Given the description of an element on the screen output the (x, y) to click on. 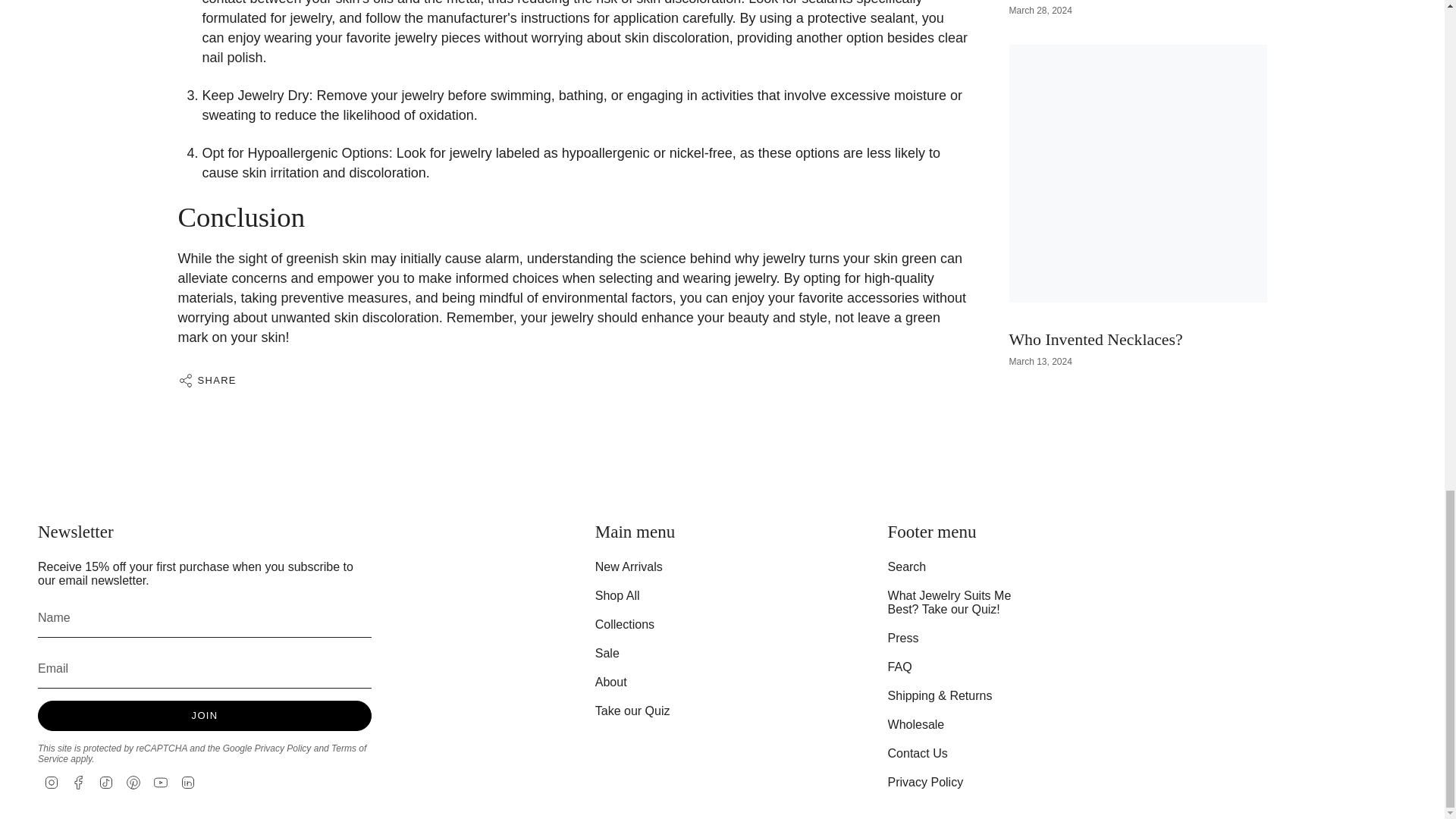
Cier on TikTok (106, 780)
Cier on Facebook (78, 780)
Cier on Instagram (51, 780)
Cier on YouTube (160, 780)
Who Invented Necklaces? (1095, 239)
Cier on Linkedin (187, 780)
Cier on Pinterest (133, 780)
